Given the description of an element on the screen output the (x, y) to click on. 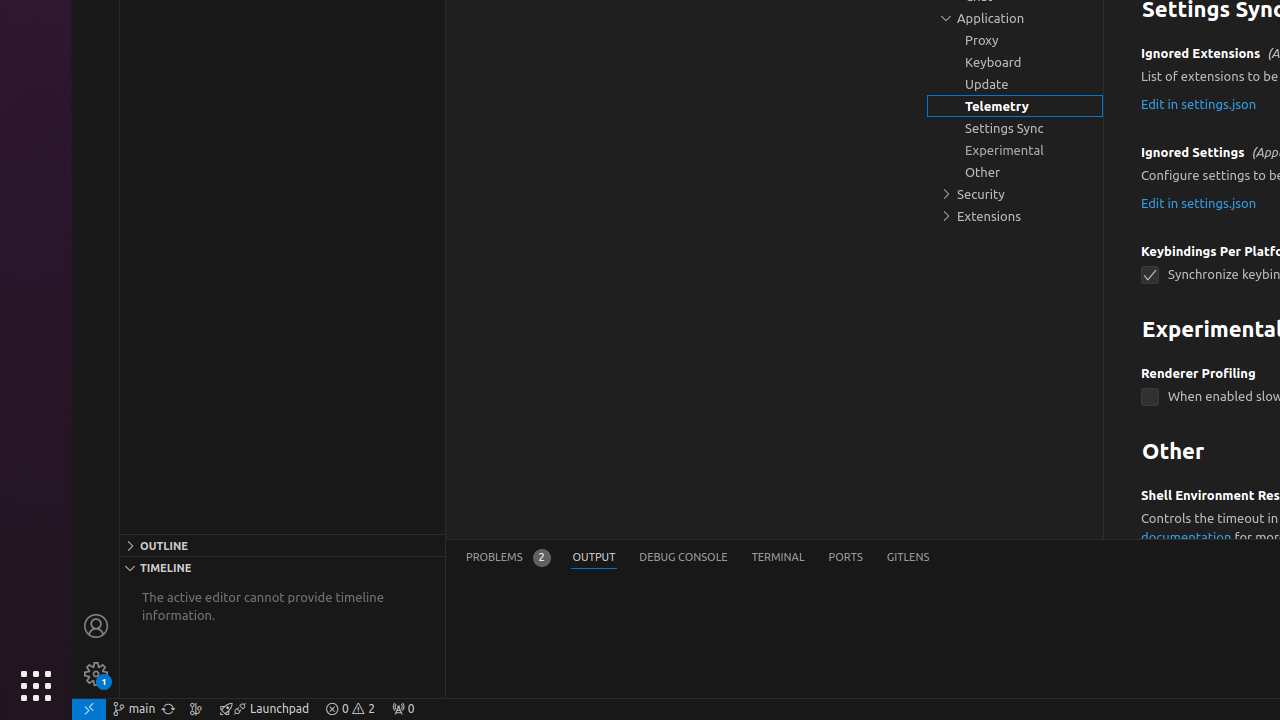
Warnings: 2 Element type: push-button (350, 709)
Active View Switcher Element type: page-tab-list (698, 557)
GitLens Element type: page-tab (908, 557)
remote Element type: push-button (89, 709)
OSWorld (Git) - main, Checkout Branch/Tag... Element type: push-button (134, 709)
